Given the description of an element on the screen output the (x, y) to click on. 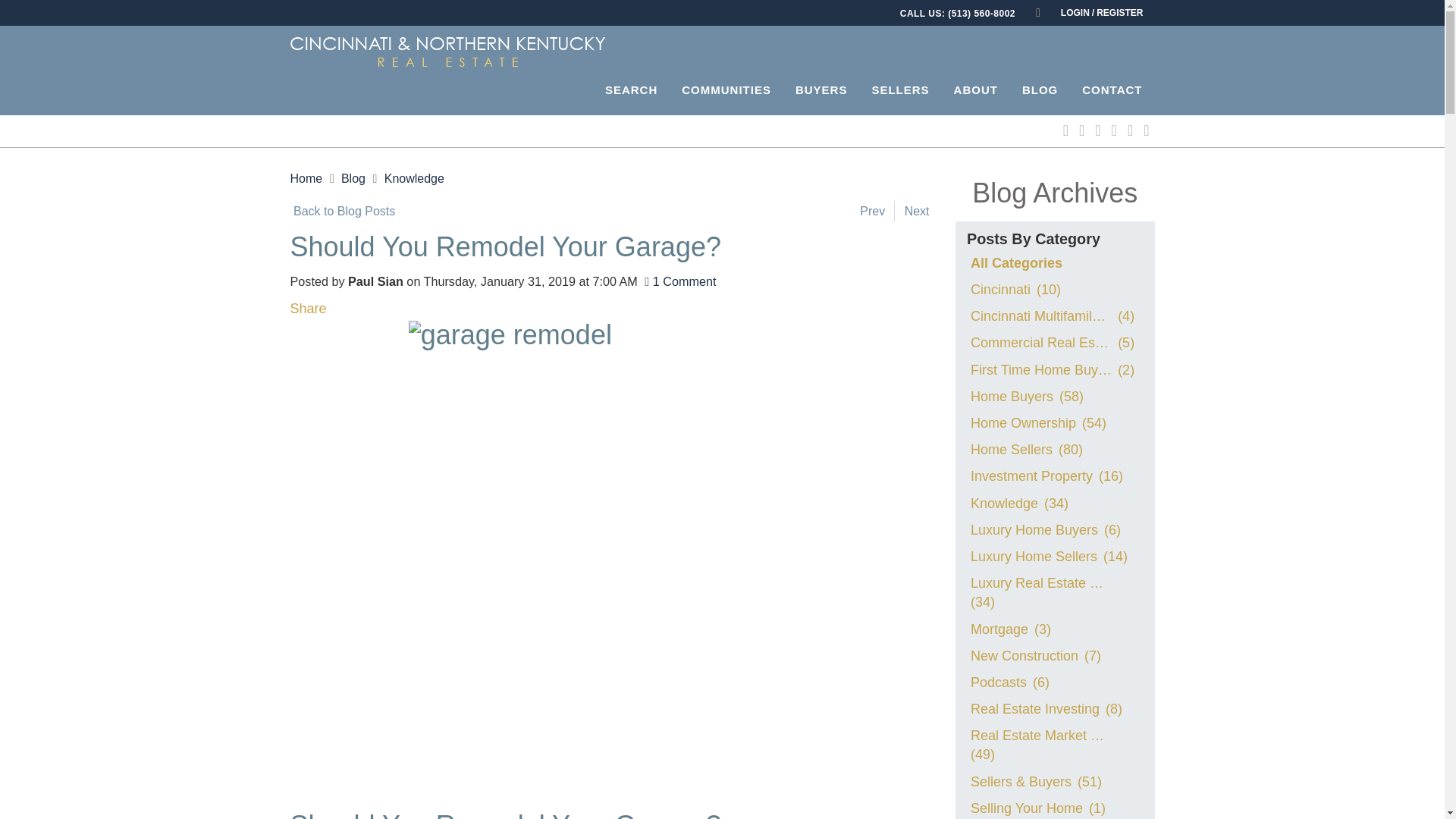
BLOG (1040, 87)
CONTACT (1112, 87)
SEARCH (630, 87)
ABOUT (976, 87)
SELLERS (899, 87)
REGISTER (1119, 12)
COMMUNITIES (726, 87)
BUYERS (821, 87)
